Given the description of an element on the screen output the (x, y) to click on. 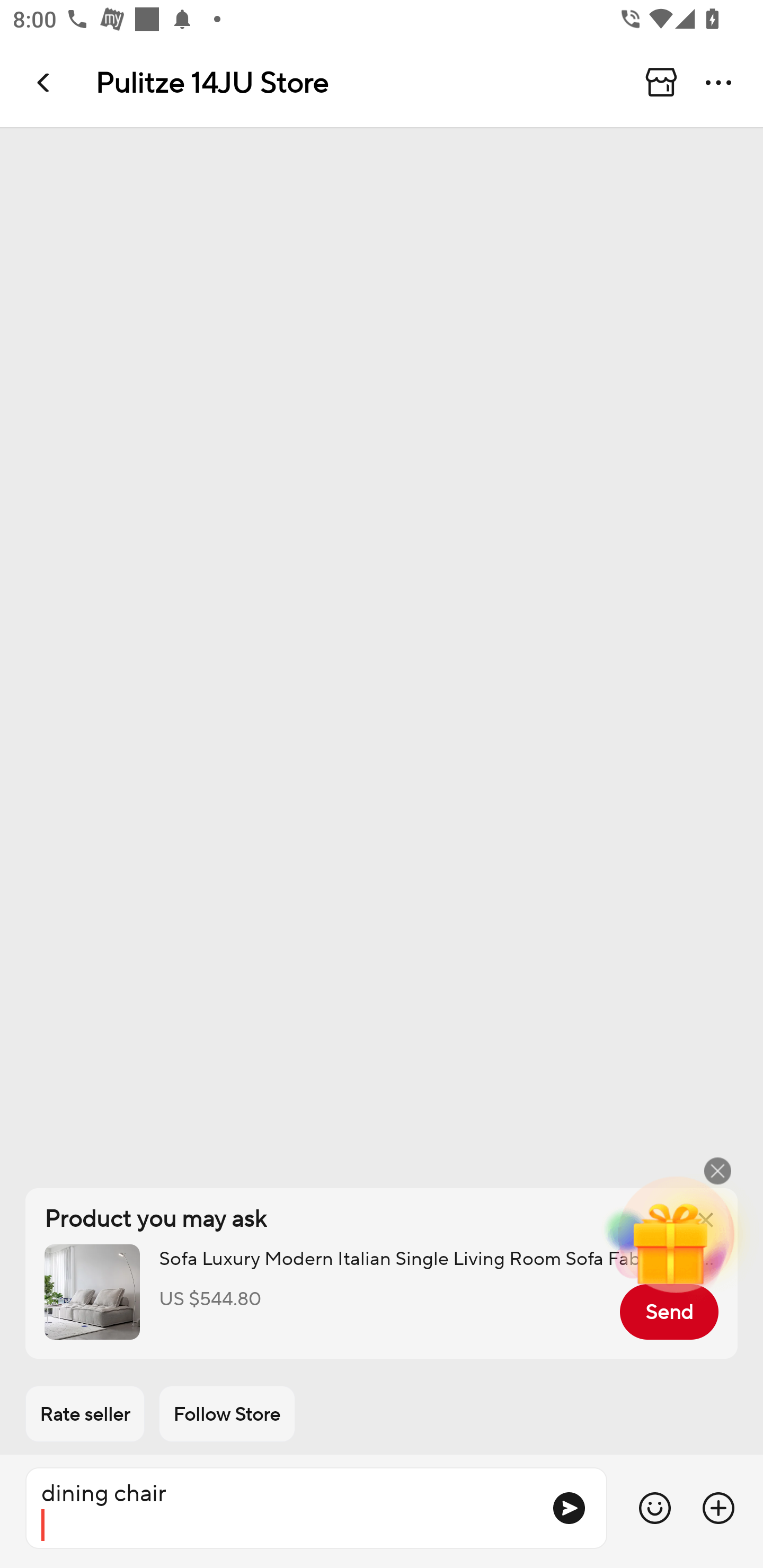
Navigate up (44, 82)
Send (668, 1311)
Rate seller (84, 1414)
Follow Store (226, 1414)
dining chair
 (281, 1508)
